Given the description of an element on the screen output the (x, y) to click on. 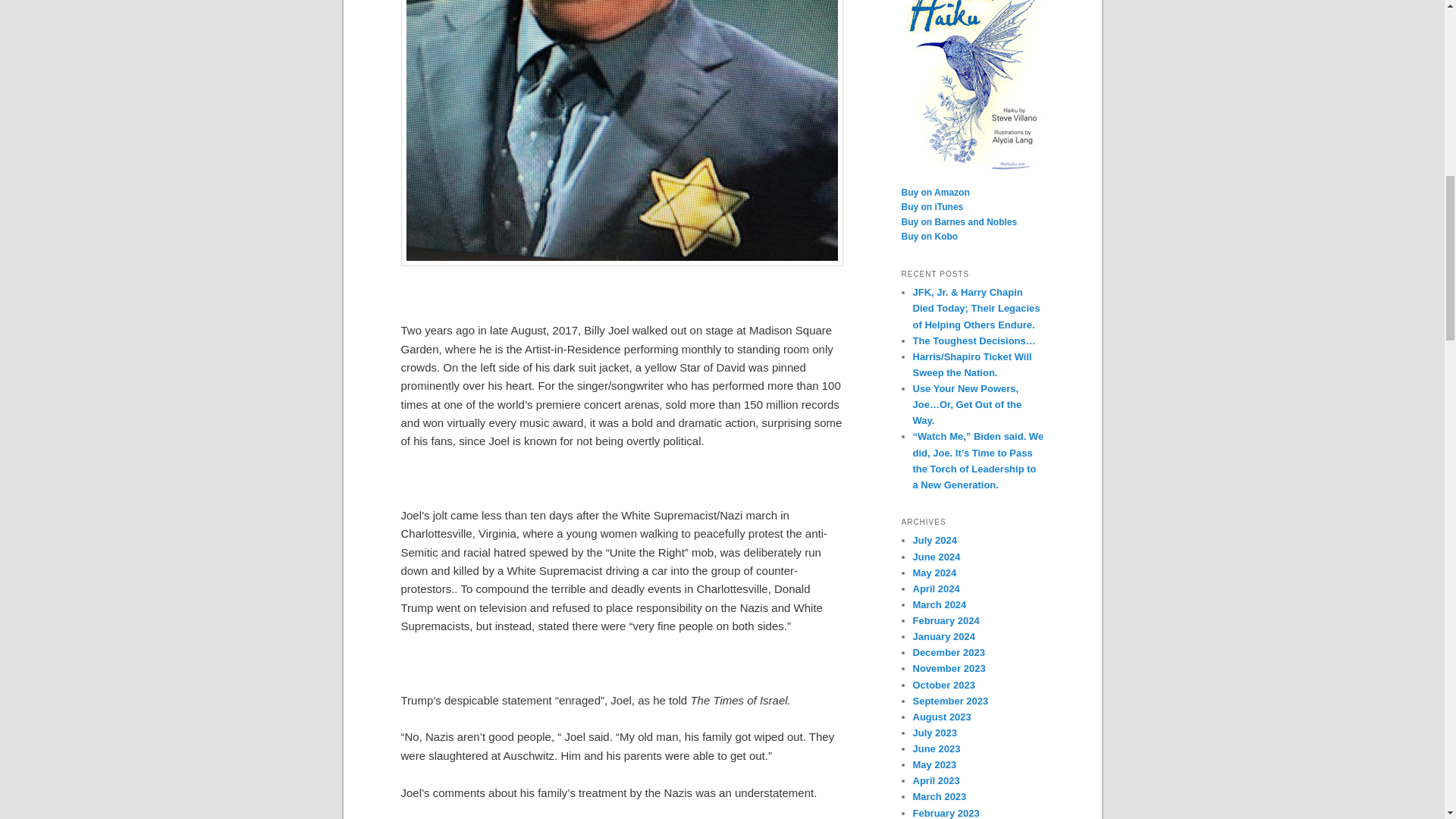
Buy on Amazon (935, 192)
Buy on iTunes (931, 206)
Buy on Kobo (929, 235)
Buy on Barnes and Nobles (958, 222)
